Given the description of an element on the screen output the (x, y) to click on. 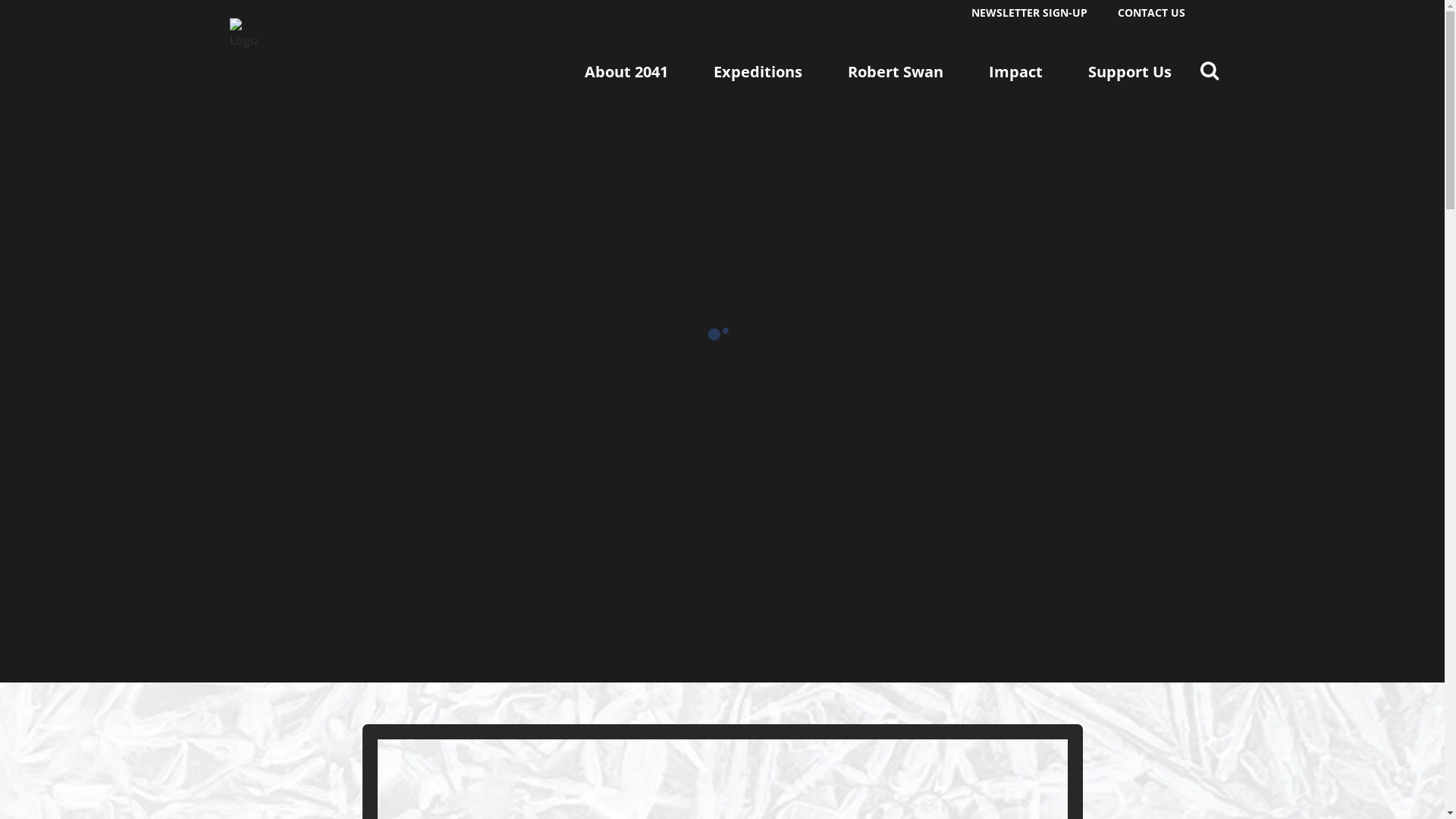
About 2041 Element type: text (625, 70)
Support Us Element type: text (1128, 70)
CONTACT US Element type: text (1151, 12)
NEWSLETTER SIGN-UP Element type: text (1028, 12)
Robert Swan Element type: text (895, 70)
Expeditions Element type: text (757, 70)
Impact Element type: text (1015, 70)
